Given the description of an element on the screen output the (x, y) to click on. 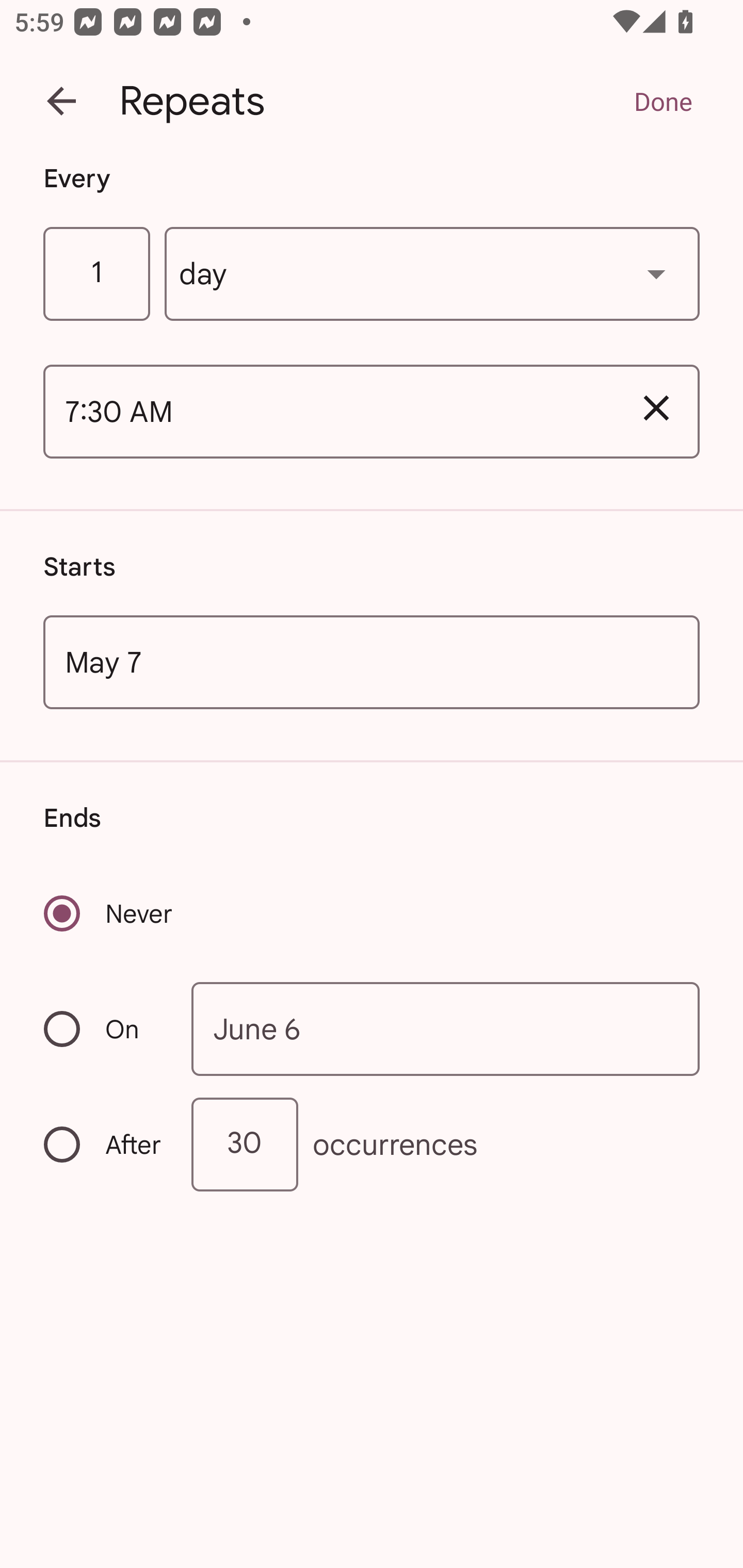
Back (61, 101)
Done (663, 101)
1 (96, 274)
day (431, 274)
Show dropdown menu (655, 273)
7:30 AM (327, 411)
Remove 7:30 AM (655, 408)
May 7 (371, 661)
Never Recurrence never ends (109, 913)
June 6 (445, 1028)
On Recurrence ends on a specific date (104, 1029)
30 (244, 1144)
